Given the description of an element on the screen output the (x, y) to click on. 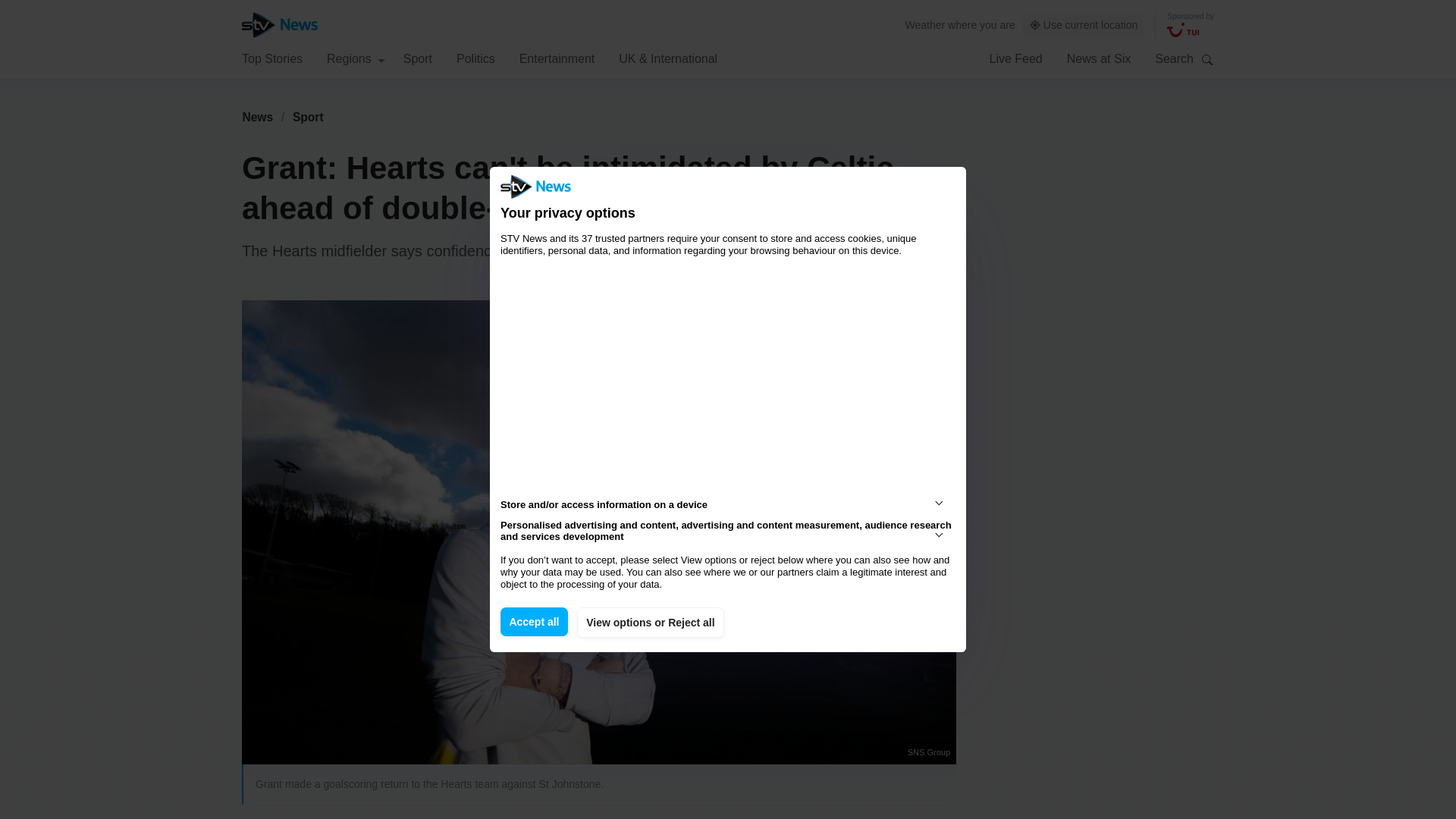
News at Six (1099, 57)
Weather (924, 24)
Live Feed (1015, 57)
Top Stories (271, 57)
Sport (308, 116)
Search (1206, 59)
Entertainment (557, 57)
Regions (355, 57)
News (257, 116)
